Given the description of an element on the screen output the (x, y) to click on. 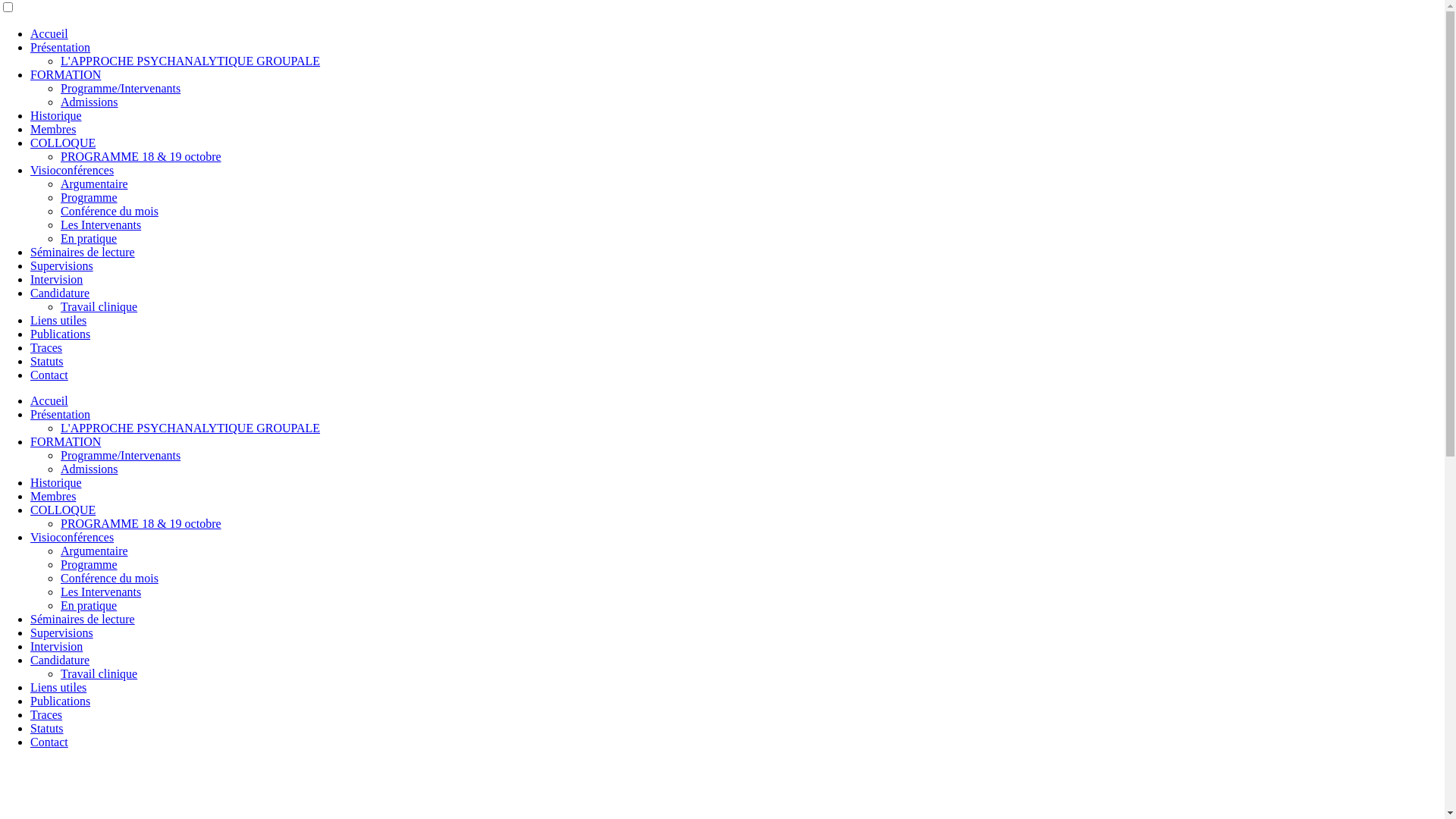
Admissions Element type: text (89, 101)
Traces Element type: text (46, 714)
Argumentaire Element type: text (94, 183)
FORMATION Element type: text (65, 74)
L'APPROCHE PSYCHANALYTIQUE GROUPALE Element type: text (190, 60)
Publications Element type: text (60, 700)
Argumentaire Element type: text (94, 550)
Membres Element type: text (52, 128)
Programme Element type: text (88, 197)
Programme/Intervenants Element type: text (120, 87)
Contact Element type: text (49, 374)
L'APPROCHE PSYCHANALYTIQUE GROUPALE Element type: text (190, 427)
PROGRAMME 18 & 19 octobre Element type: text (140, 523)
Travail clinique Element type: text (98, 306)
Liens utiles Element type: text (58, 686)
Historique Element type: text (55, 482)
Accueil Element type: text (49, 400)
Historique Element type: text (55, 115)
Intervision Element type: text (56, 646)
COLLOQUE Element type: text (62, 509)
Programme/Intervenants Element type: text (120, 454)
Les Intervenants Element type: text (100, 224)
En pratique Element type: text (88, 605)
FORMATION Element type: text (65, 441)
En pratique Element type: text (88, 238)
Admissions Element type: text (89, 468)
Traces Element type: text (46, 347)
Les Intervenants Element type: text (100, 591)
Intervision Element type: text (56, 279)
Membres Element type: text (52, 495)
Statuts Element type: text (46, 727)
PROGRAMME 18 & 19 octobre Element type: text (140, 156)
Travail clinique Element type: text (98, 673)
Contact Element type: text (49, 741)
Supervisions Element type: text (61, 632)
Programme Element type: text (88, 564)
Statuts Element type: text (46, 360)
Candidature Element type: text (59, 292)
COLLOQUE Element type: text (62, 142)
Supervisions Element type: text (61, 265)
Liens utiles Element type: text (58, 319)
Accueil Element type: text (49, 33)
Candidature Element type: text (59, 659)
Publications Element type: text (60, 333)
